Given the description of an element on the screen output the (x, y) to click on. 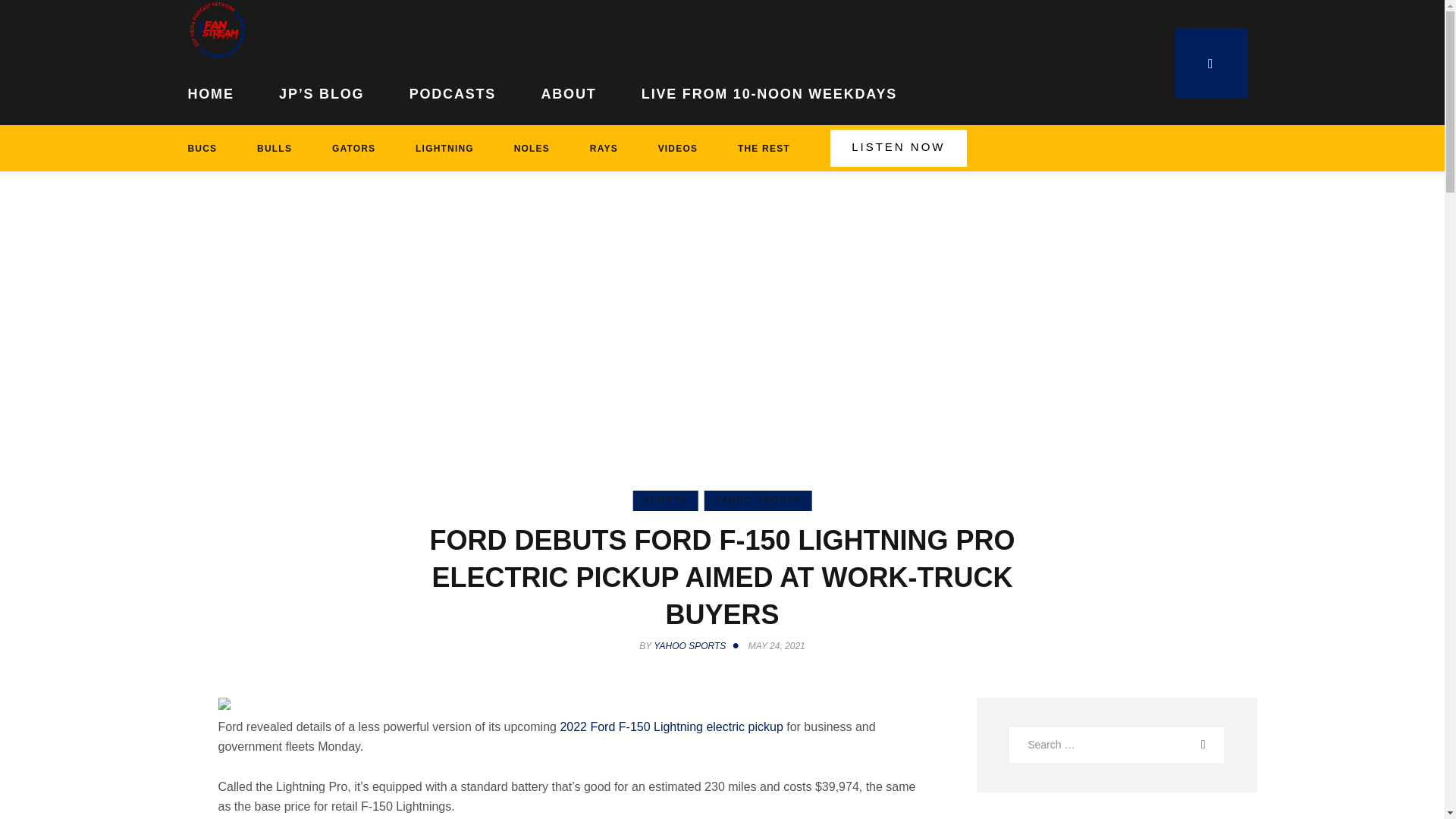
GATORS (352, 147)
HOME (222, 91)
PODCASTS (452, 91)
LISTEN NOW (897, 148)
VIDEOS (677, 147)
YAHOO SPORTS (757, 500)
BY YAHOO SPORTS (692, 645)
THE REST (763, 147)
SPORTS (664, 500)
ABOUT (568, 91)
LIVE FROM 10-NOON WEEKDAYS (769, 91)
BULLS (275, 147)
RAYS (603, 147)
BUCS (212, 147)
LIGHTNING (445, 147)
